Given the description of an element on the screen output the (x, y) to click on. 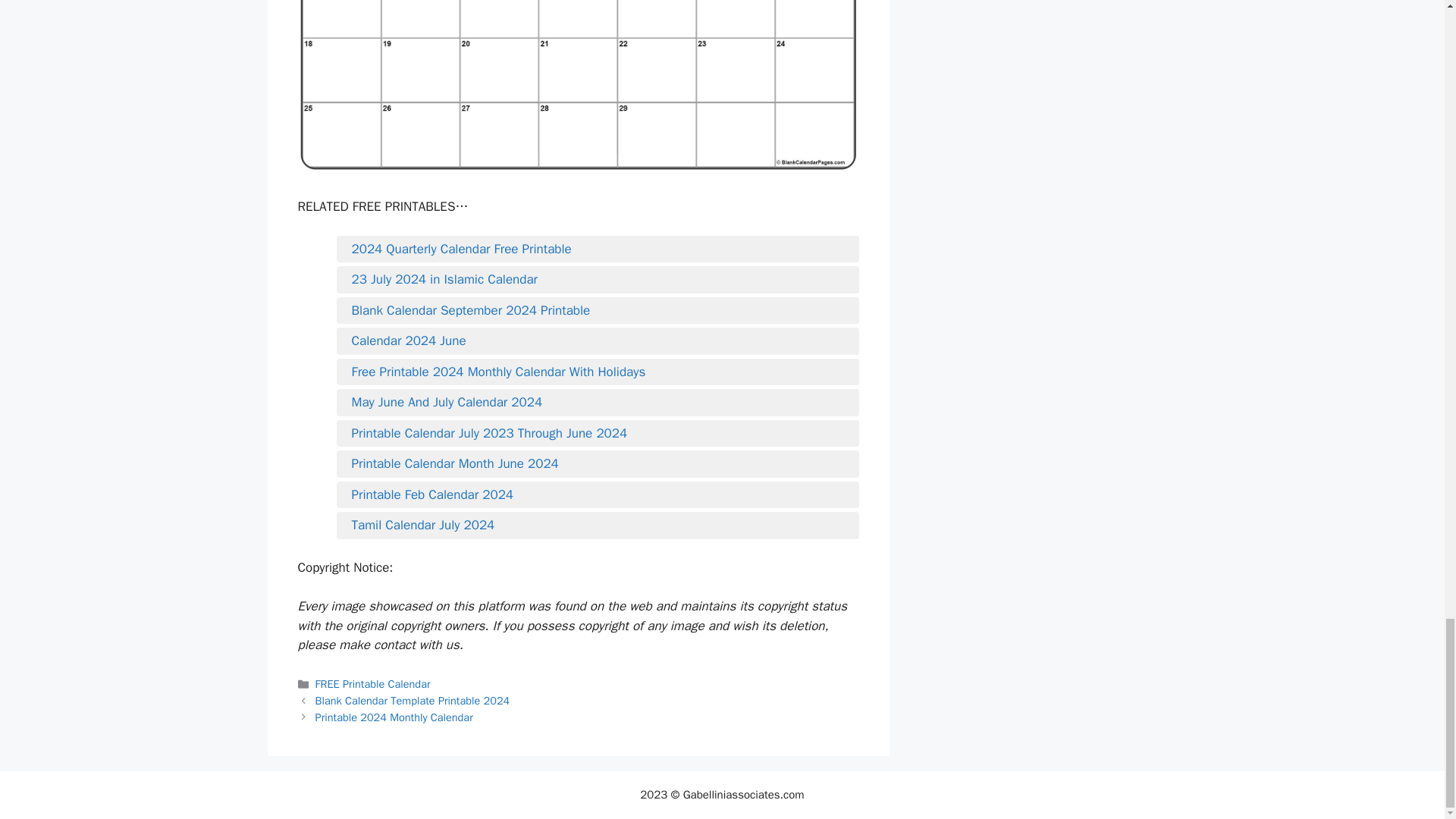
Printable Calendar July 2023 Through June 2024 (597, 433)
Tamil Calendar July 2024 (597, 525)
Printable Calendar Month June 2024 (597, 463)
FREE Printable Calendar (372, 684)
Blank Calendar Template Printable 2024 (413, 700)
Calendar 2024 June (597, 341)
Blank Calendar September 2024 Printable (597, 310)
Free Printable 2024 Monthly Calendar With Holidays (597, 372)
May June And July Calendar 2024 (597, 402)
Printable Feb Calendar 2024 (597, 495)
Printable 2024 Monthly Calendar (394, 716)
23 July 2024 in Islamic Calendar (597, 279)
2024 Quarterly Calendar Free Printable (597, 249)
